Given the description of an element on the screen output the (x, y) to click on. 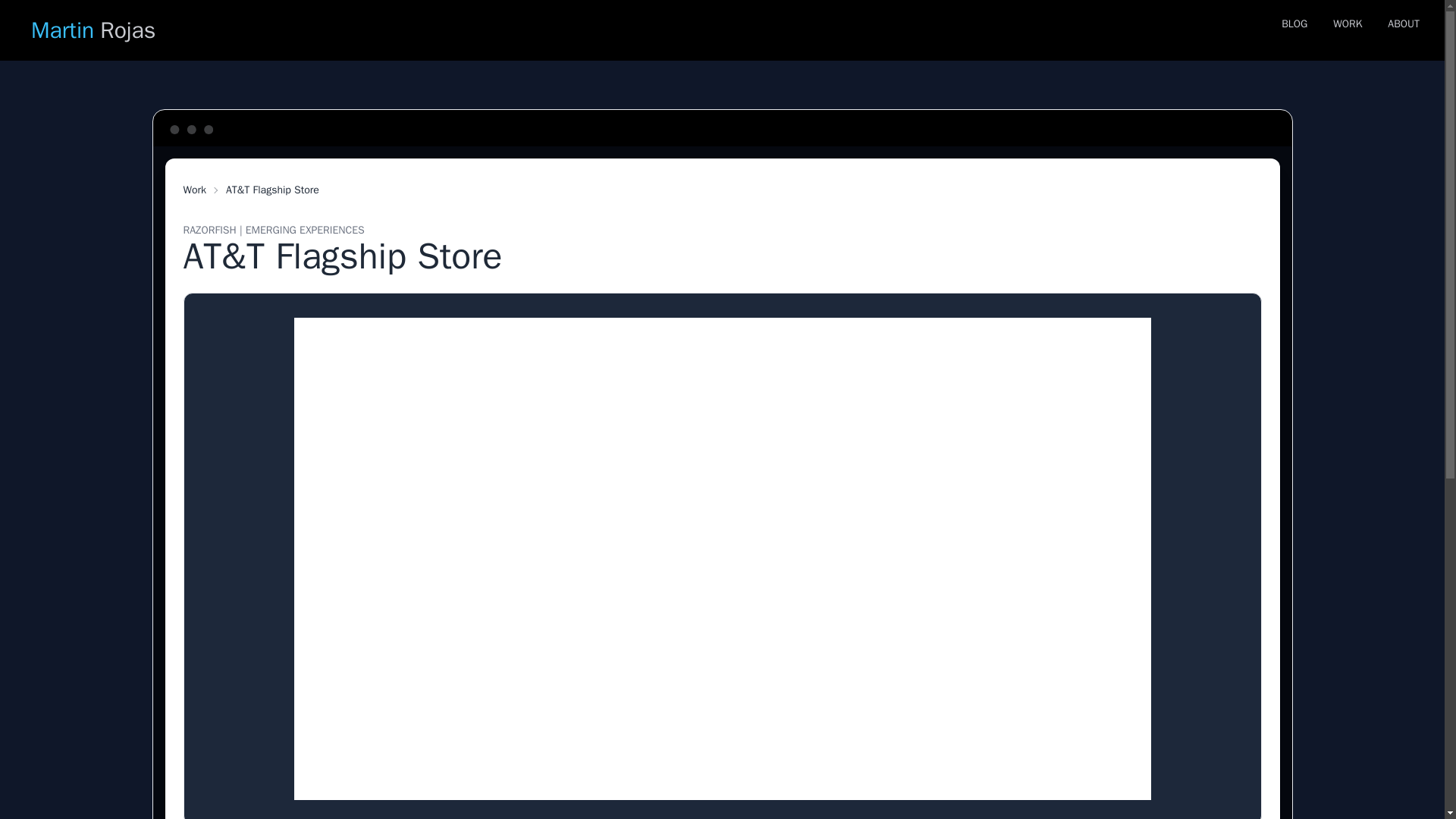
BLOG (95, 30)
Work (1294, 30)
WORK (194, 190)
ABOUT (1347, 30)
